Given the description of an element on the screen output the (x, y) to click on. 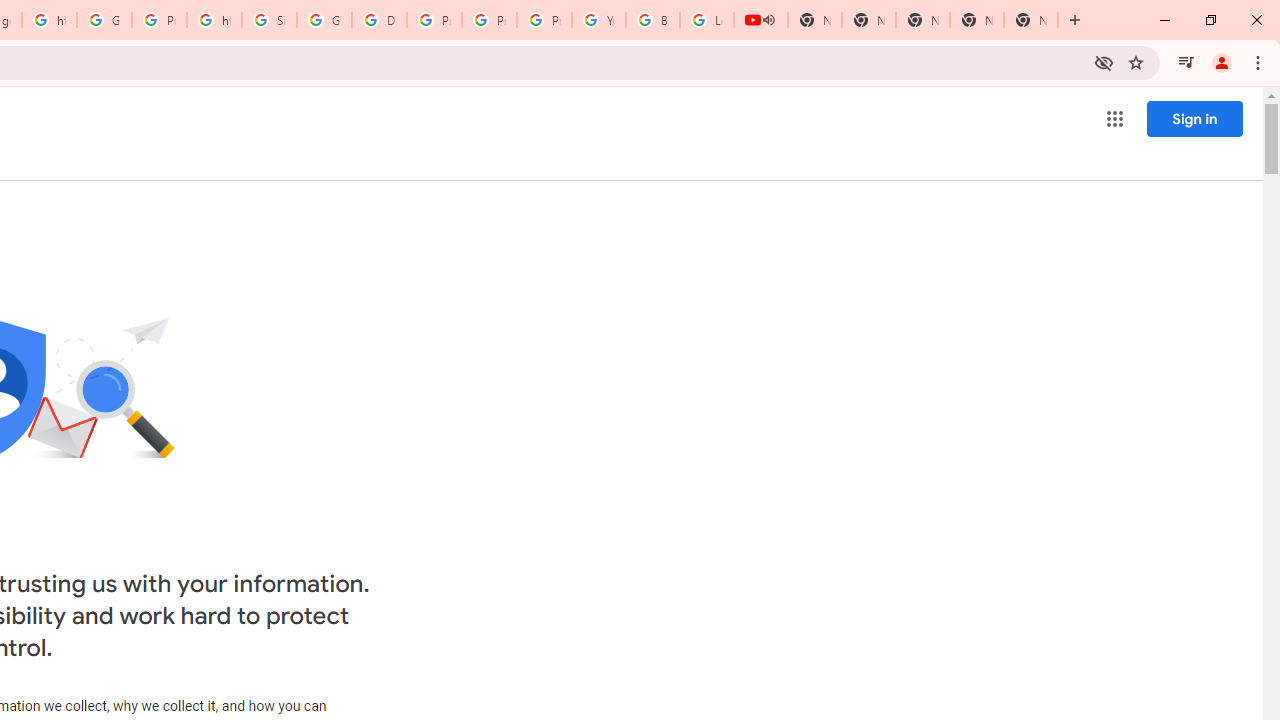
https://scholar.google.com/ (213, 20)
